Given the description of an element on the screen output the (x, y) to click on. 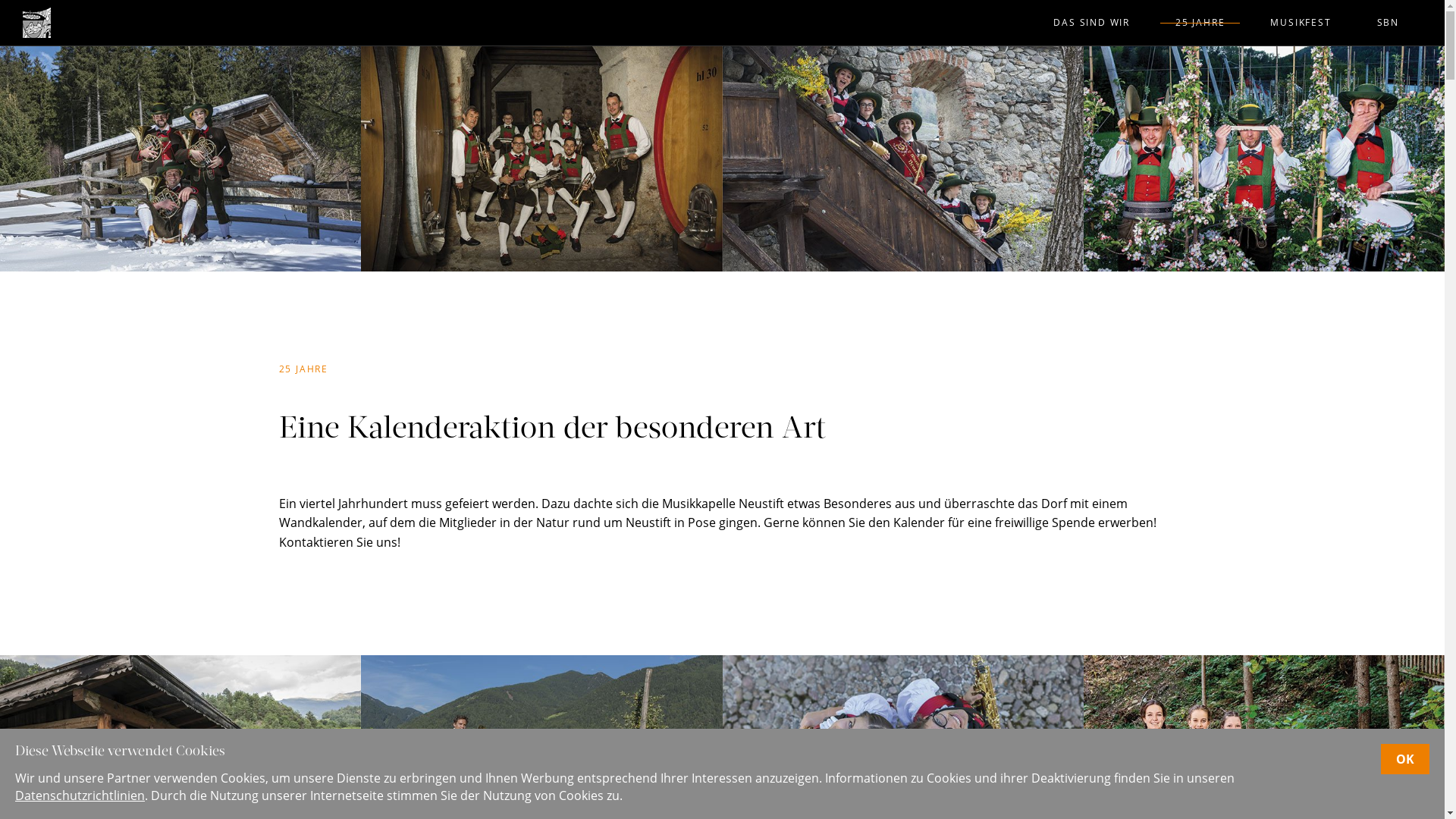
Datenschutzrichtlinien Element type: text (79, 795)
25 JAHRE Element type: text (1199, 22)
OK Element type: text (1404, 758)
MUSIKFEST Element type: text (1300, 22)
DAS SIND WIR Element type: text (1091, 22)
SBN Element type: text (1387, 22)
